Given the description of an element on the screen output the (x, y) to click on. 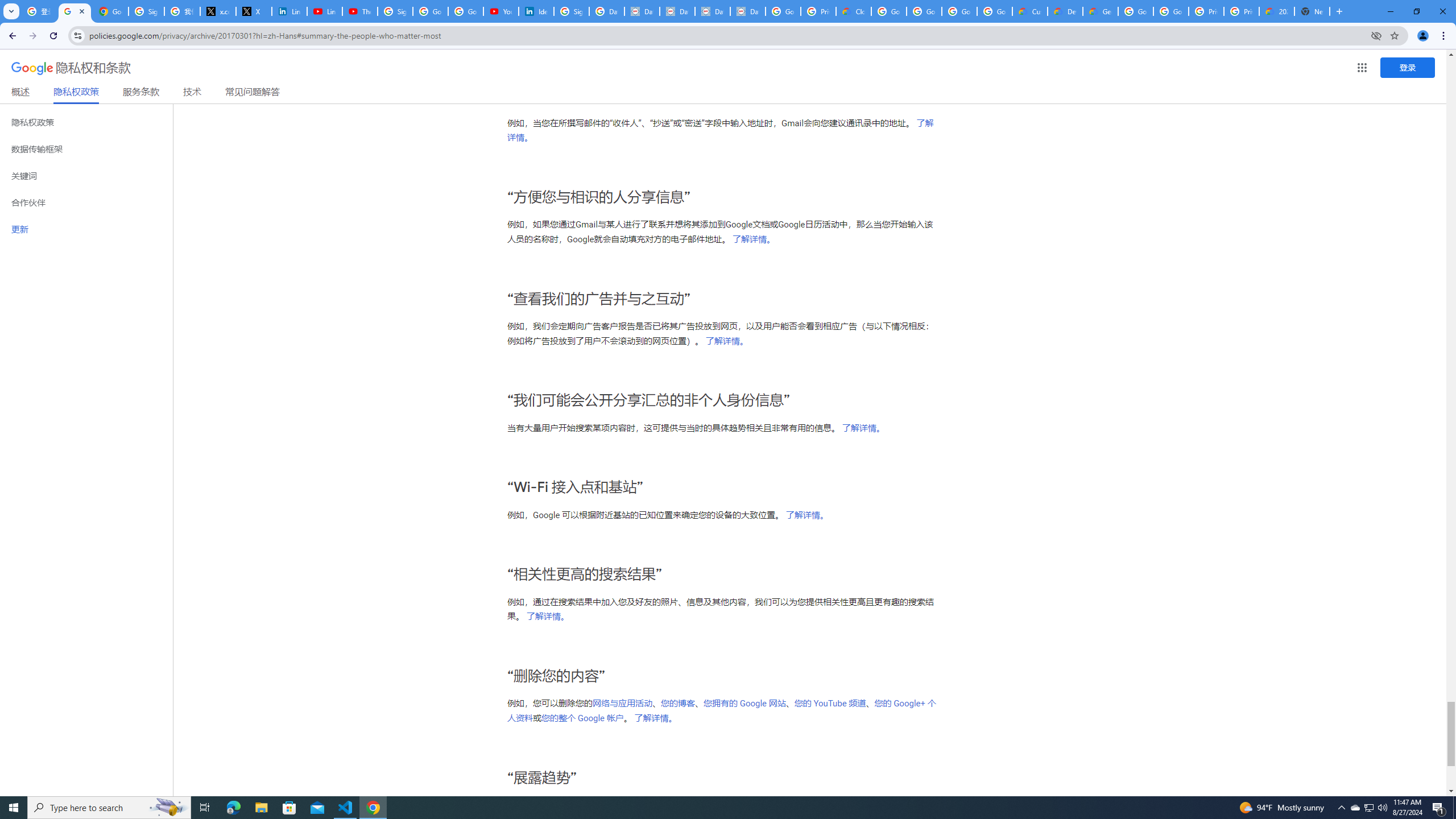
LinkedIn Privacy Policy (288, 11)
X (253, 11)
Sign in - Google Accounts (145, 11)
New Tab (1312, 11)
Cloud Data Processing Addendum | Google Cloud (853, 11)
LinkedIn - YouTube (324, 11)
